Given the description of an element on the screen output the (x, y) to click on. 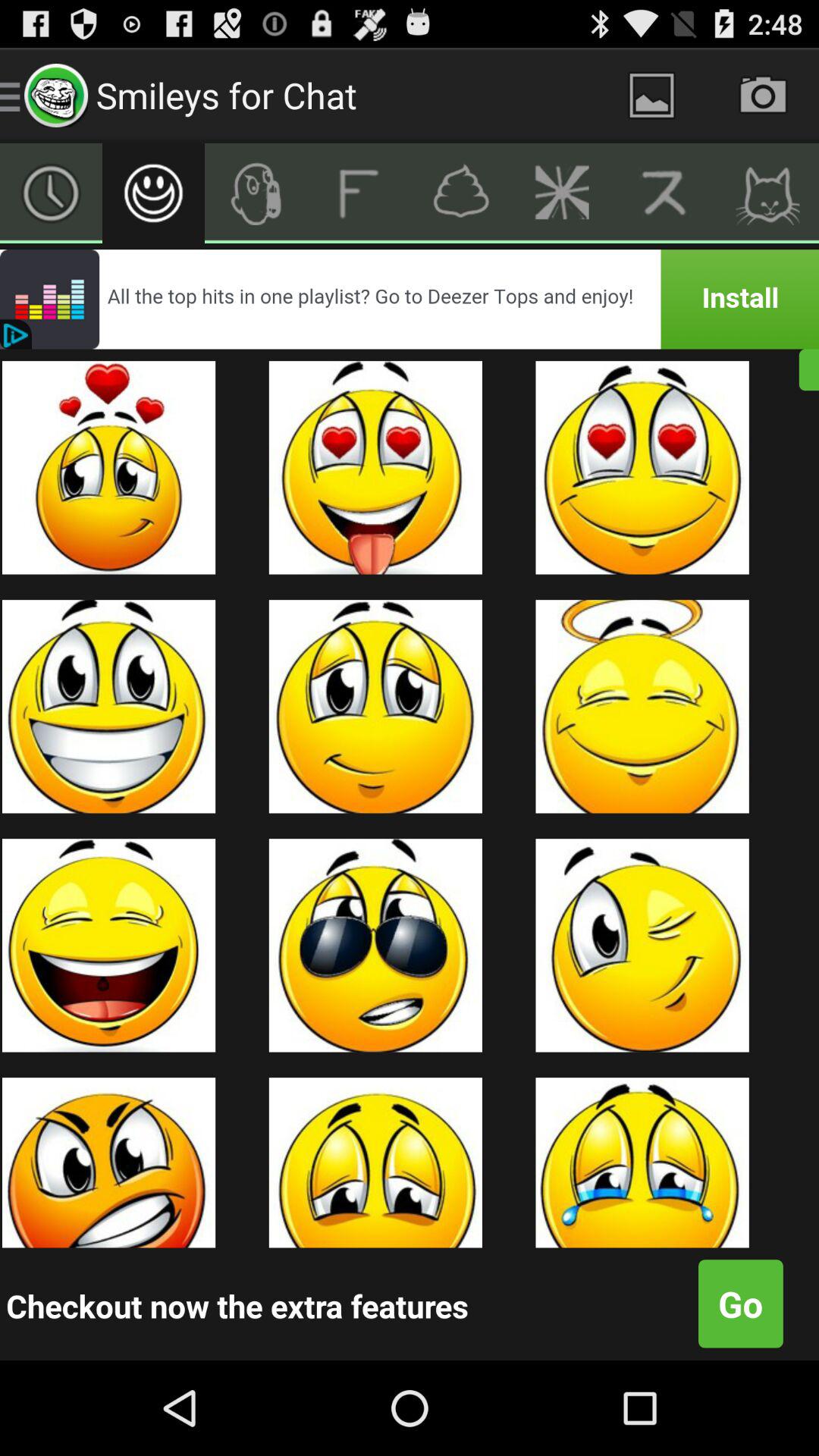
advertisement (409, 299)
